Given the description of an element on the screen output the (x, y) to click on. 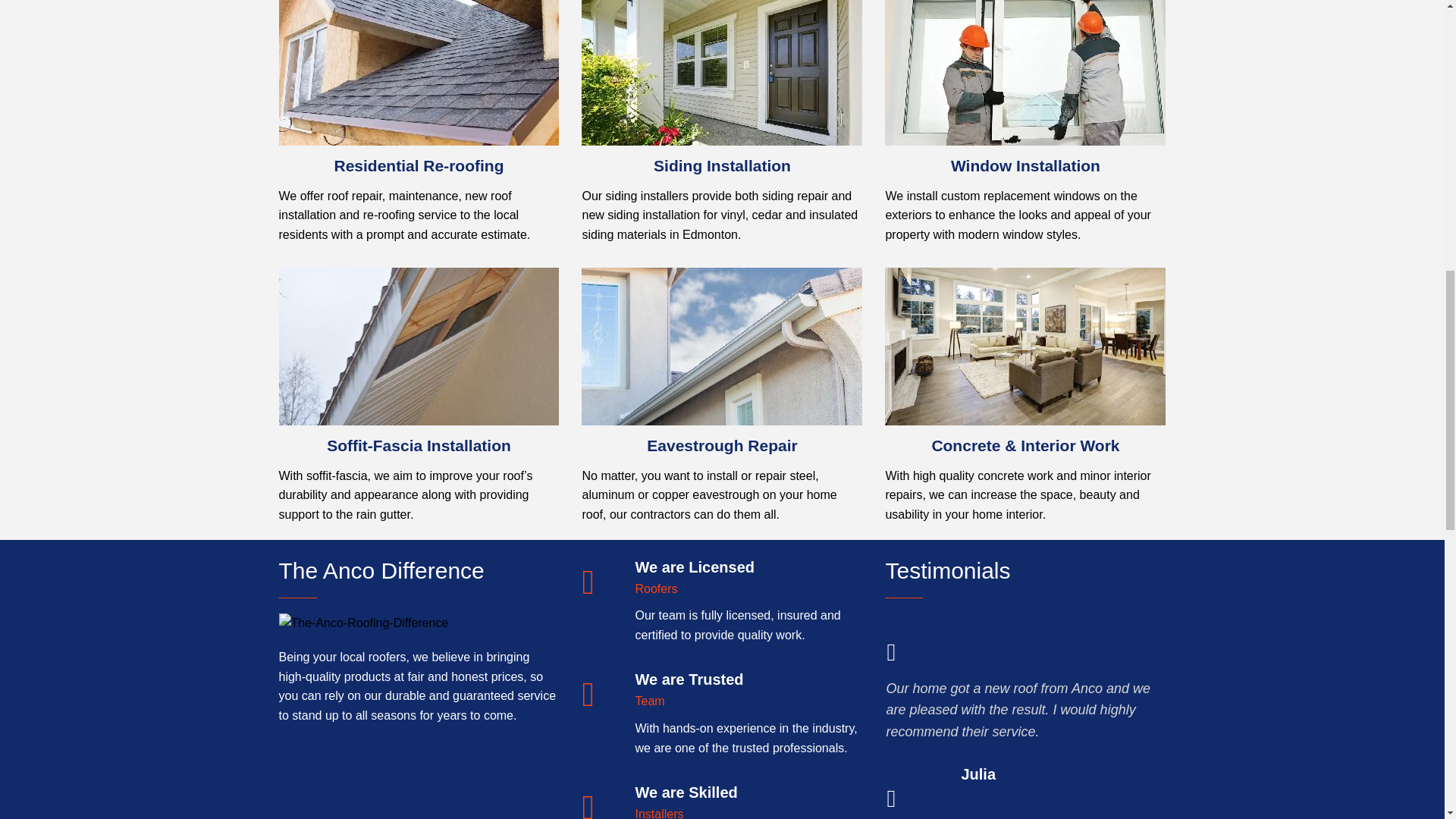
Residential Re-roofing (419, 72)
Siding Installation (721, 165)
Eavestrough Repair (720, 346)
Siding Installation (720, 72)
Window Installation (1025, 72)
Window Installation (1025, 165)
Soffit-Fascia Installation (419, 346)
Residential Re-roofing (418, 165)
Eavestrough Repair (721, 445)
Soffit-Fascia Installation (418, 445)
